Given the description of an element on the screen output the (x, y) to click on. 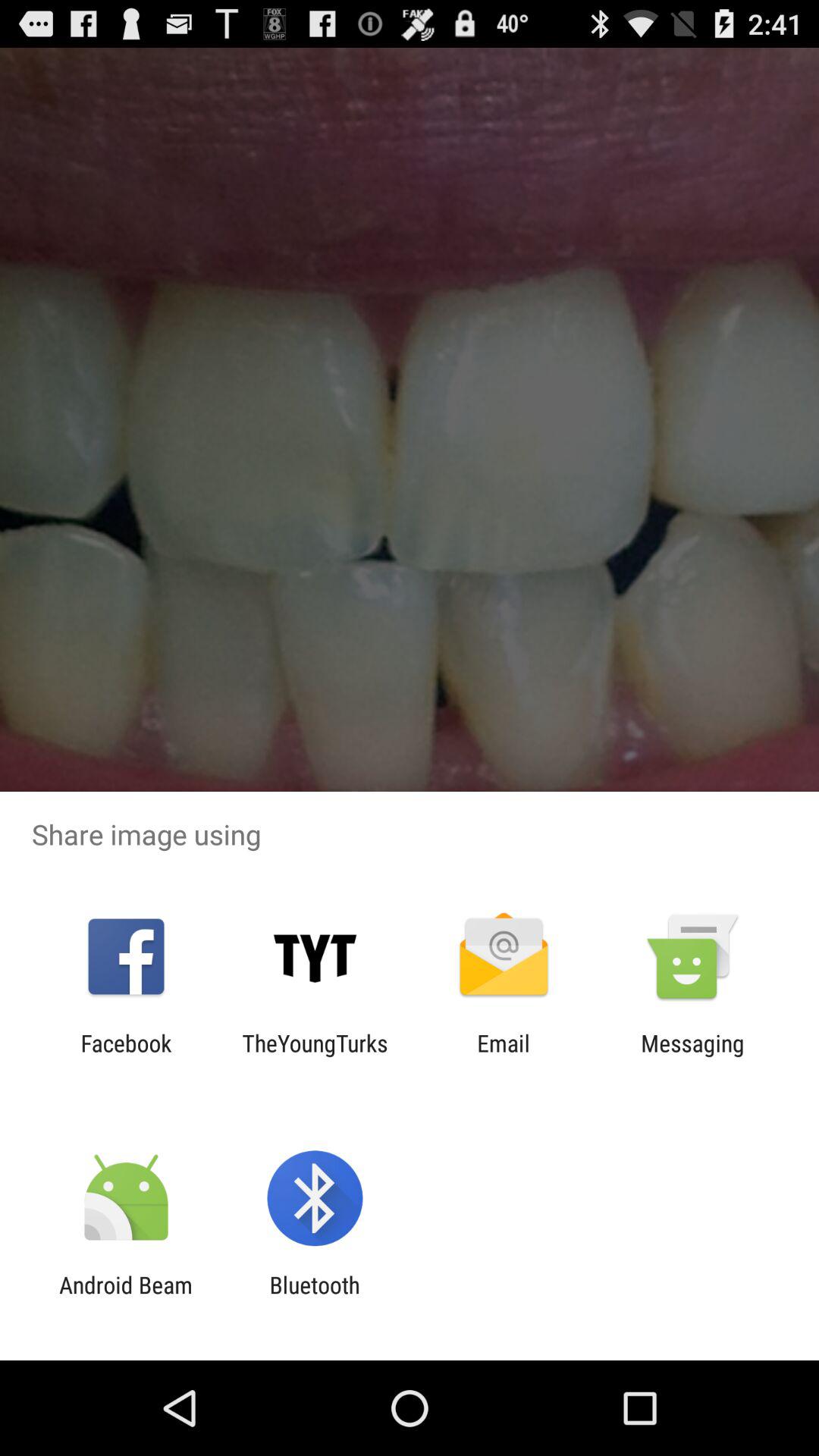
turn off the item next to the theyoungturks icon (125, 1056)
